Given the description of an element on the screen output the (x, y) to click on. 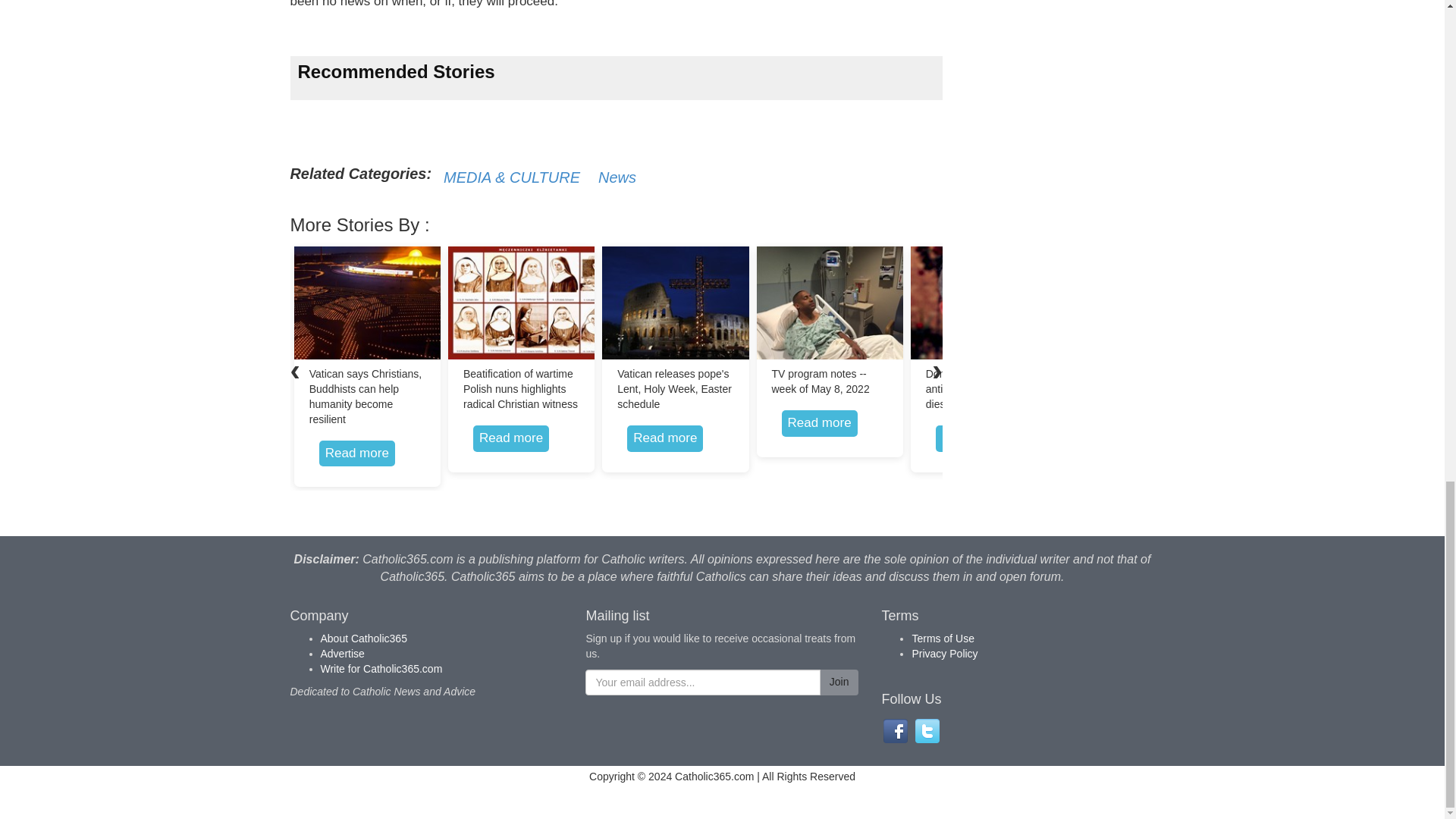
Join (839, 682)
Facebook (895, 730)
News (617, 176)
Twitter (927, 730)
